Given the description of an element on the screen output the (x, y) to click on. 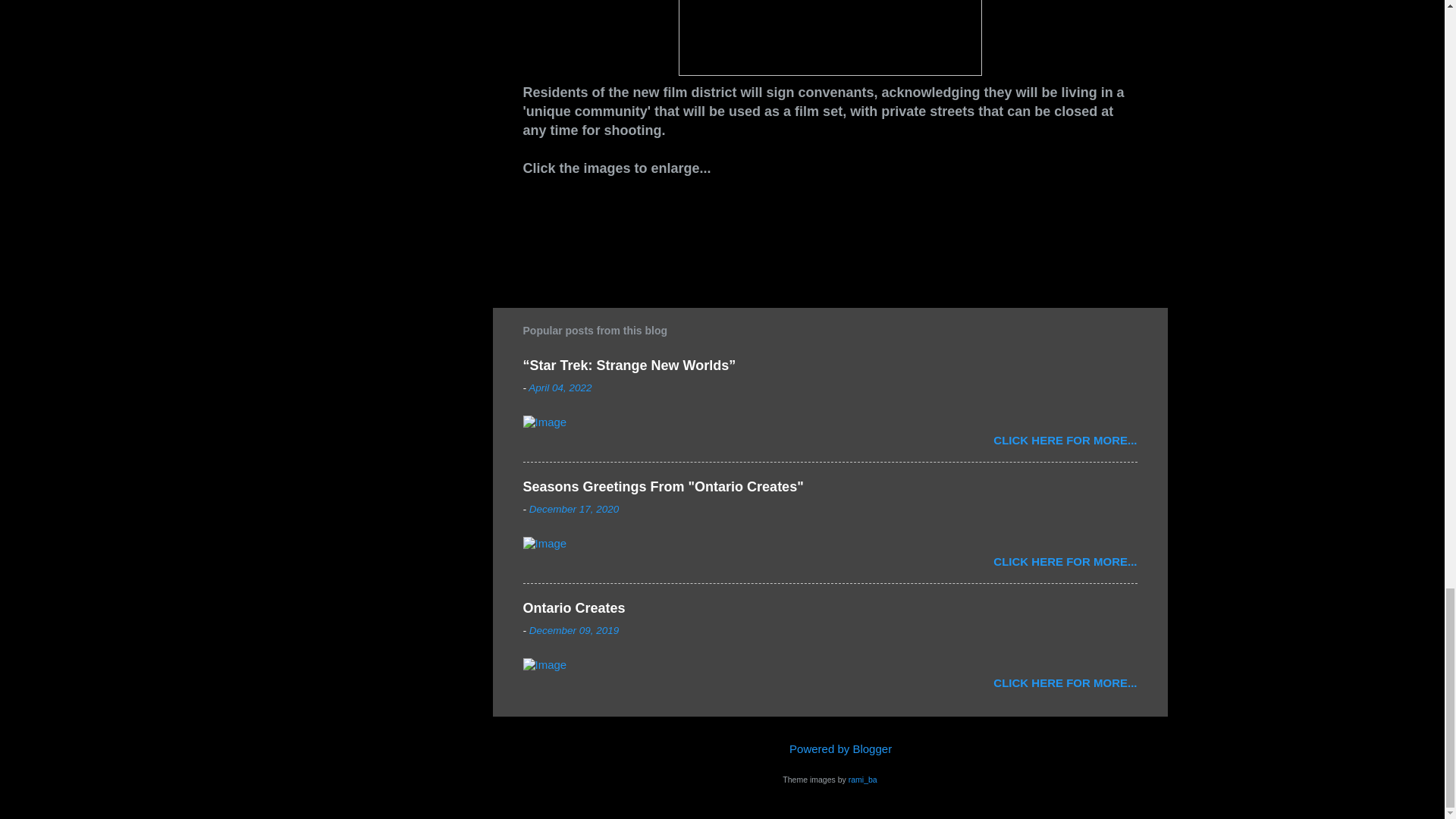
December 09, 2019 (574, 630)
Seasons Greetings From "Ontario Creates" (662, 486)
CLICK HERE FOR MORE... (1064, 682)
December 17, 2020 (574, 509)
Ontario Creates (574, 607)
CLICK HERE FOR MORE... (1064, 440)
permanent link (559, 387)
Powered by Blogger (829, 748)
April 04, 2022 (559, 387)
CLICK HERE FOR MORE... (1064, 561)
